Given the description of an element on the screen output the (x, y) to click on. 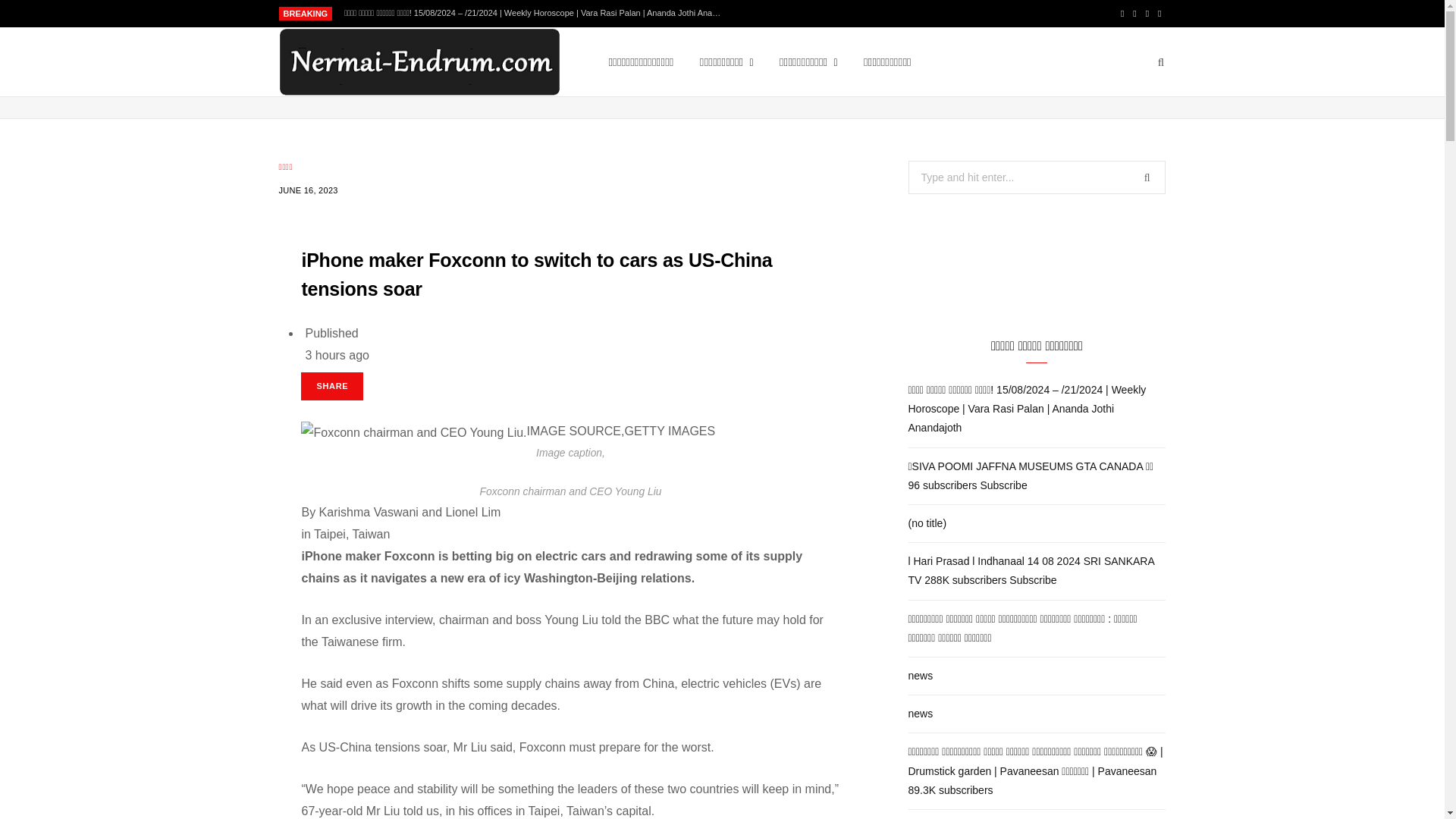
JUNE 16, 2023 (308, 189)
SHARE (331, 386)
Nermai Endrum (419, 61)
